Given the description of an element on the screen output the (x, y) to click on. 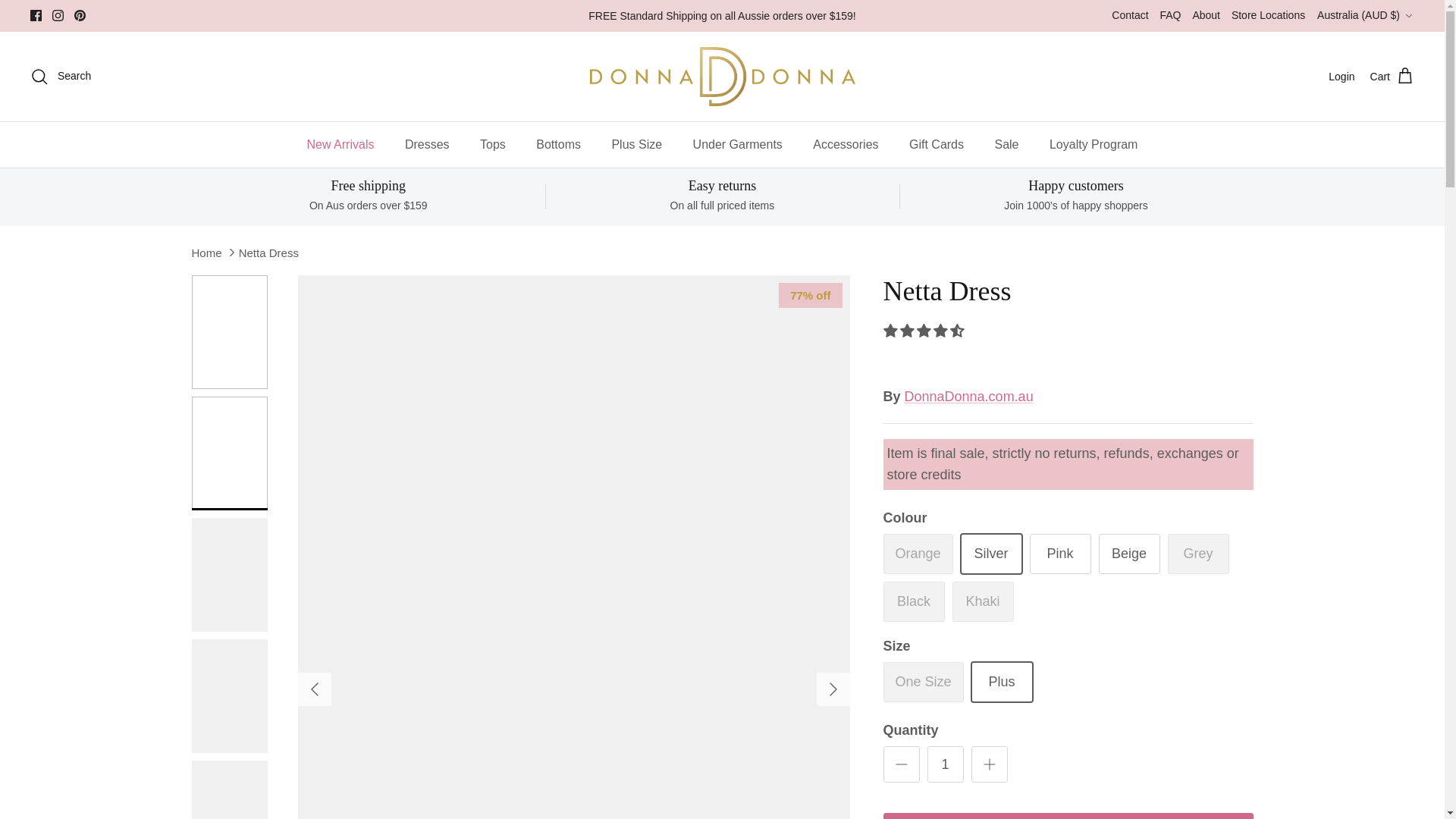
Instagram (58, 15)
Cart (1391, 76)
Down (1408, 15)
Dresses (427, 144)
Facebook (36, 15)
Pinterest (79, 15)
Minus (900, 764)
RIGHT (832, 689)
Pinterest (79, 15)
DonnaDonna.com.au (722, 76)
